Given the description of an element on the screen output the (x, y) to click on. 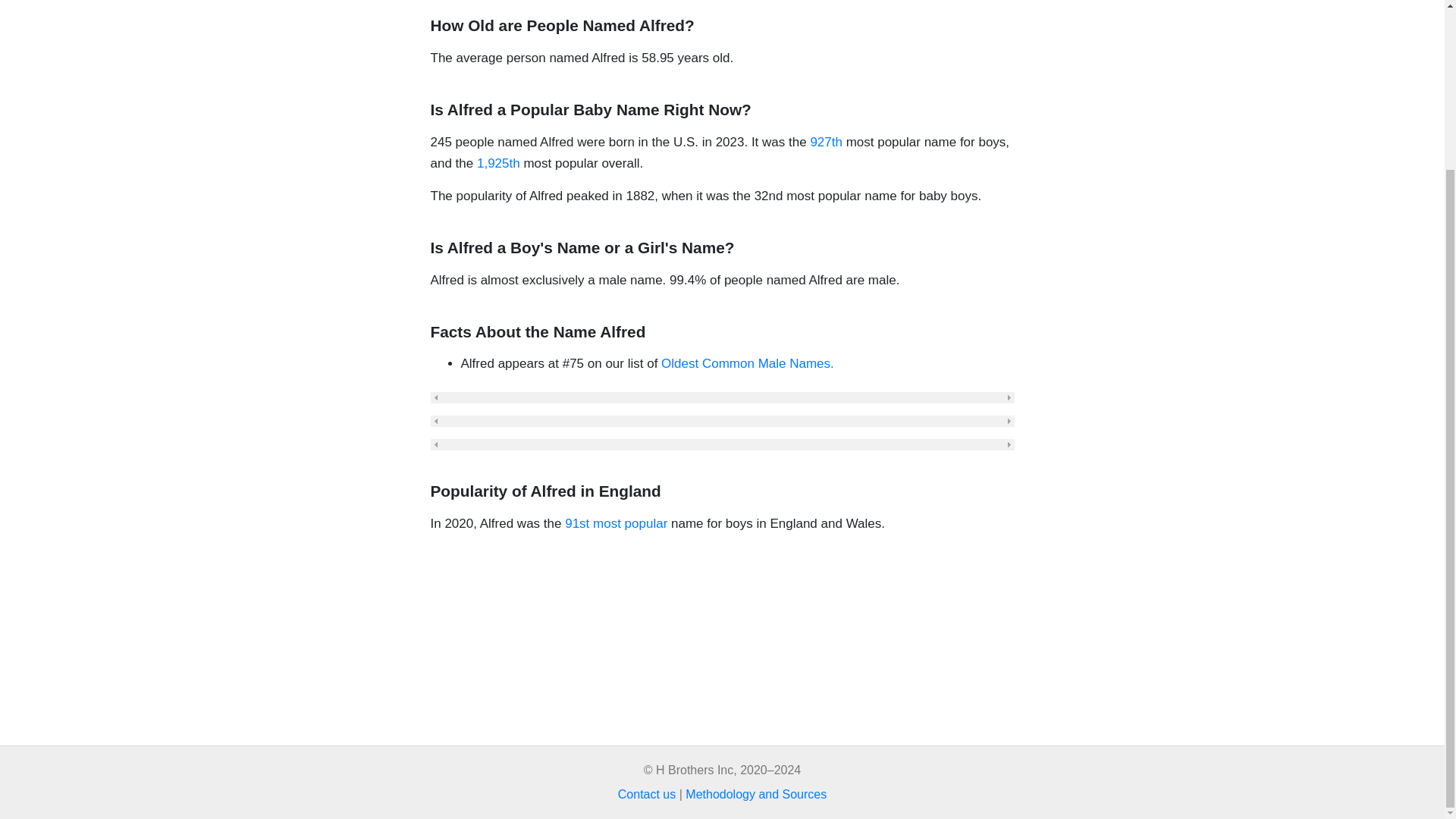
Oldest Common Male Names. (747, 363)
Contact us (646, 793)
Methodology and Sources (756, 793)
927th (826, 142)
1,925th (498, 163)
91st most popular (615, 523)
